Given the description of an element on the screen output the (x, y) to click on. 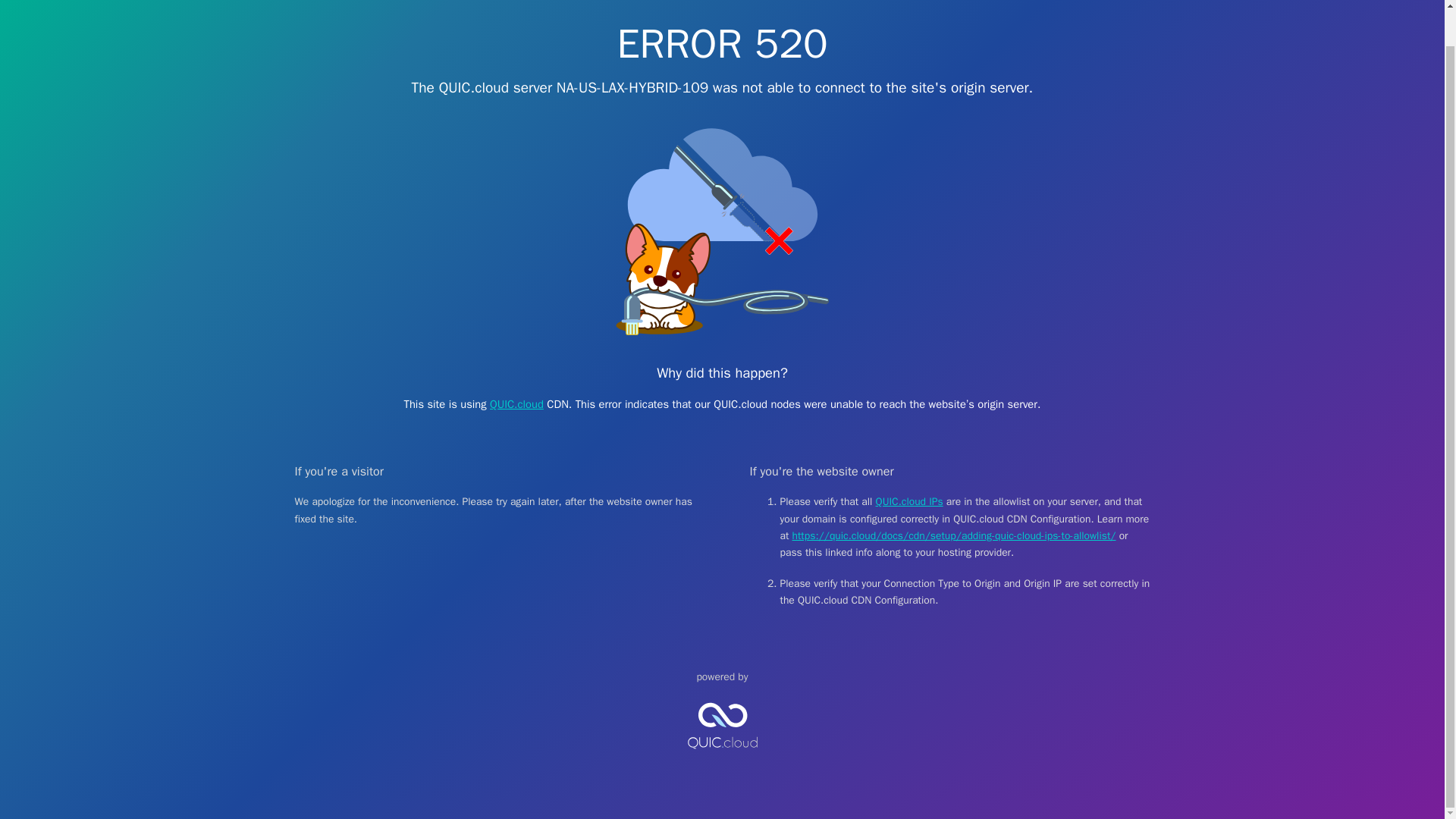
QUIC.cloud (516, 404)
QUIC.cloud IPs (909, 501)
QUIC.cloud (721, 761)
